Given the description of an element on the screen output the (x, y) to click on. 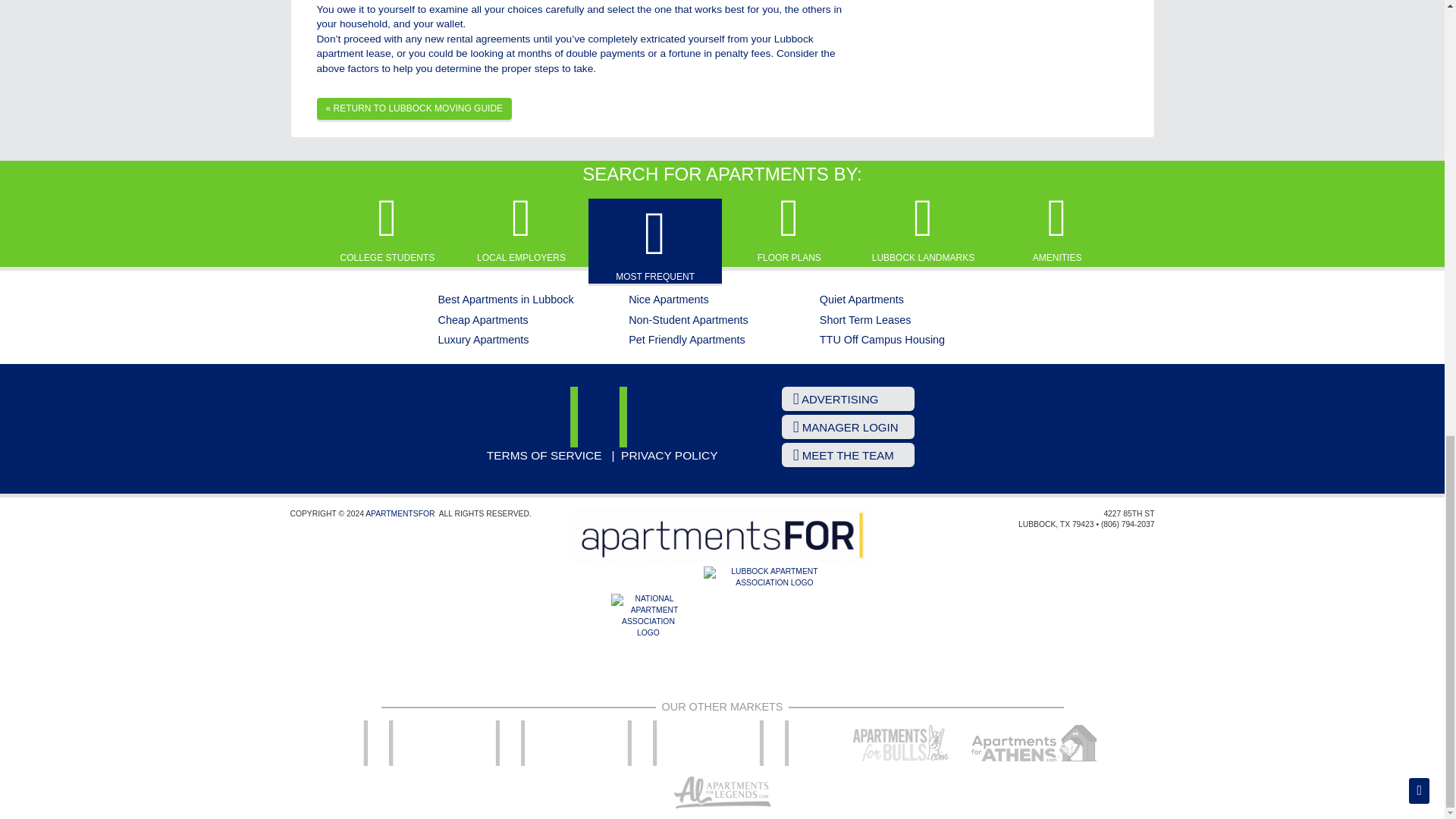
Best Apartments in Lubbock (505, 299)
Pet Friendly Apartments (686, 339)
TTU Off Campus Housing (881, 339)
Quiet Apartments (861, 299)
FLOOR PLANS (789, 227)
LUBBOCK LANDMARKS (923, 227)
ApartmentsFor.com (399, 513)
National Apartment Association (647, 630)
A Local ApartmentsFor Brand (721, 535)
LOCAL EMPLOYERS (521, 227)
Terms of Service (544, 454)
COLLEGE STUDENTS (386, 227)
AMENITIES (1056, 227)
Non-Student Apartments (688, 319)
Cheap Apartments (483, 319)
